Given the description of an element on the screen output the (x, y) to click on. 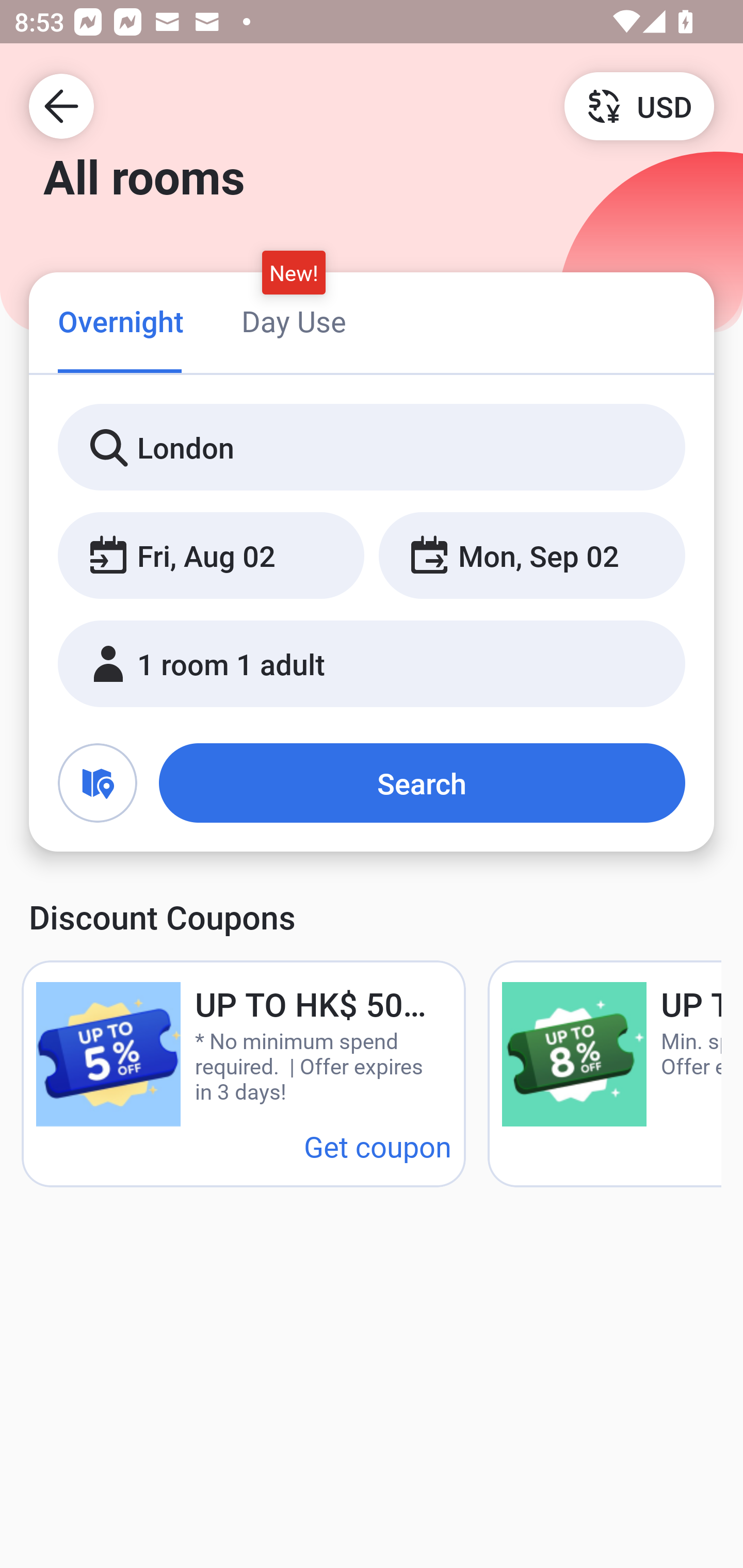
USD (639, 105)
New! (294, 272)
Day Use (293, 321)
London (371, 447)
Fri, Aug 02 (210, 555)
Mon, Sep 02 (531, 555)
1 room 1 adult (371, 663)
Search (422, 783)
Get coupon (377, 1146)
